Given the description of an element on the screen output the (x, y) to click on. 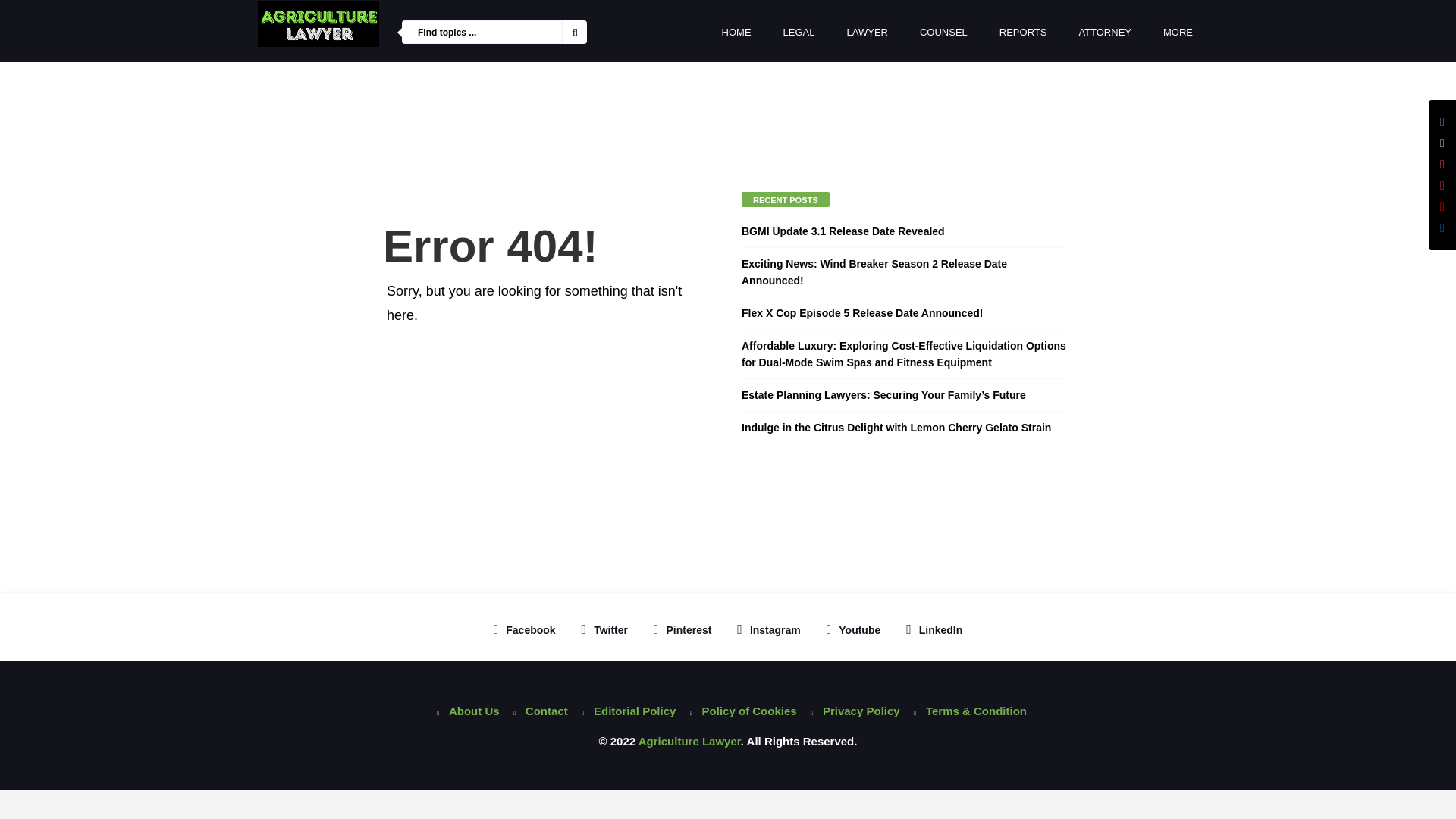
LinkedIn (933, 629)
Contact (536, 710)
Exciting News: Wind Breaker Season 2 Release Date Announced! (874, 271)
LAWYER (867, 32)
Flex X Cop Episode 5 Release Date Announced! (861, 313)
COUNSEL (943, 32)
ATTORNEY (1104, 32)
HOME (736, 32)
Editorial Policy (624, 710)
